Given the description of an element on the screen output the (x, y) to click on. 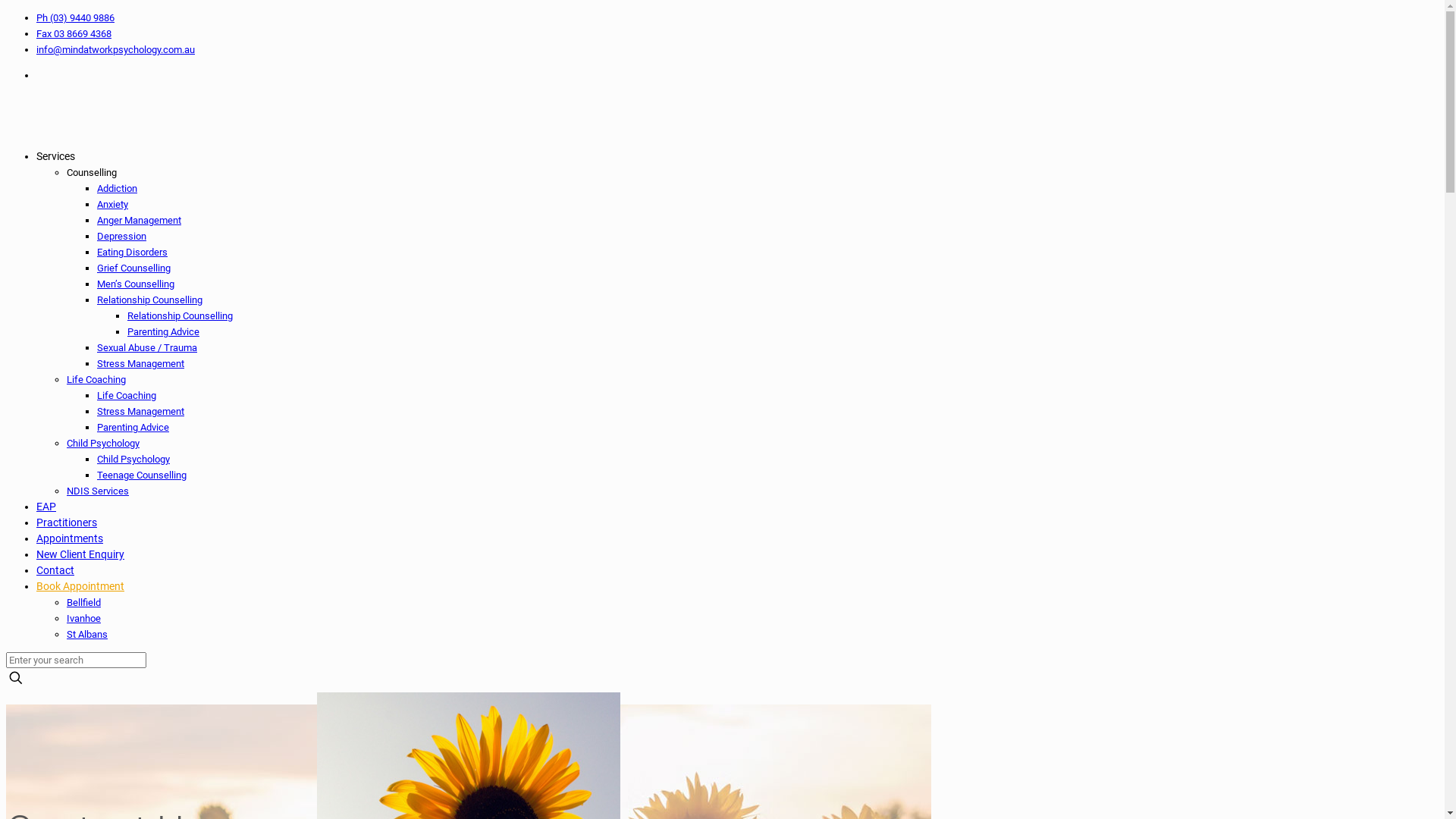
St Albans Element type: text (86, 634)
Parenting Advice Element type: text (163, 331)
Stress Management Element type: text (140, 363)
Contact Element type: text (55, 569)
Depression Element type: text (121, 235)
Grief Counselling Element type: text (133, 267)
New Client Enquiry Element type: text (80, 553)
Eating Disorders Element type: text (132, 251)
Relationship Counselling Element type: text (149, 299)
Life Coaching Element type: text (95, 379)
Addiction Element type: text (117, 188)
Fax 03 8669 4368 Element type: text (73, 33)
Ivanhoe Element type: text (83, 618)
Services Element type: text (55, 155)
Parenting Advice Element type: text (133, 427)
Life Coaching Element type: text (126, 395)
Anxiety Element type: text (112, 204)
Mind@Work Psychology Element type: hover (7, 115)
Teenage Counselling Element type: text (141, 474)
info@mindatworkpsychology.com.au Element type: text (115, 49)
Child Psychology Element type: text (102, 442)
Bellfield Element type: text (83, 602)
Anger Management Element type: text (139, 219)
Book Appointment Element type: text (80, 585)
Practitioners Element type: text (66, 522)
Ph (03) 9440 9886 Element type: text (75, 17)
Relationship Counselling Element type: text (179, 315)
EAP Element type: text (46, 506)
Stress Management Element type: text (140, 411)
Appointments Element type: text (69, 537)
Sexual Abuse / Trauma Element type: text (147, 347)
Counselling Element type: text (91, 172)
NDIS Services Element type: text (97, 490)
Child Psychology Element type: text (133, 458)
